Given the description of an element on the screen output the (x, y) to click on. 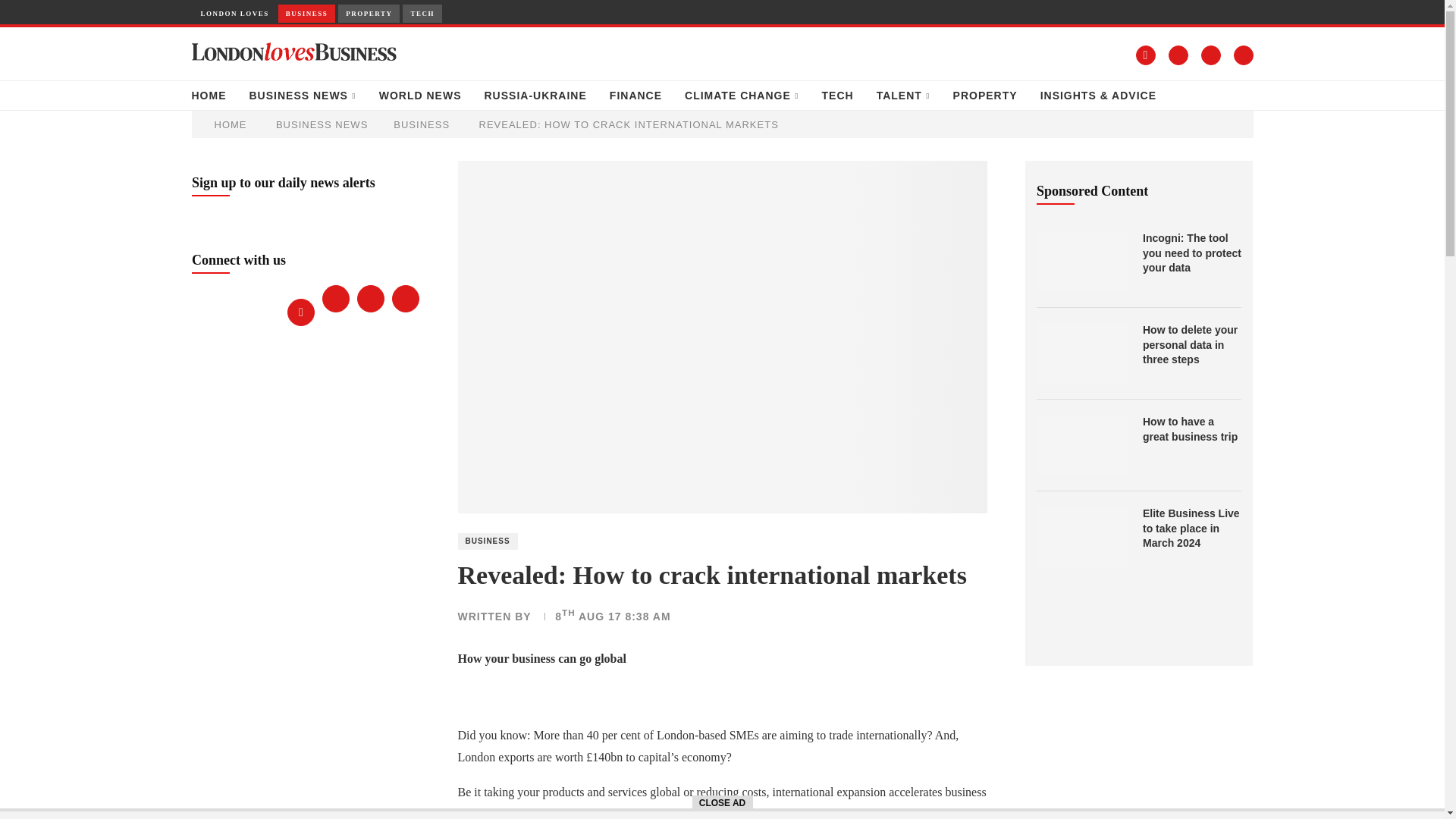
Incogni: The tool you need to protect your data (1191, 253)
Elite Business Live to take place in March 2024 (1191, 528)
How to have a great business trip (1191, 429)
How to have a great business trip (1081, 444)
How to delete your personal data in three steps (1081, 353)
Elite Business Live to take place in March 2024 (1081, 536)
How to delete your personal data in three steps (1191, 344)
Incogni: The tool you need to protect your data (1081, 260)
